Given the description of an element on the screen output the (x, y) to click on. 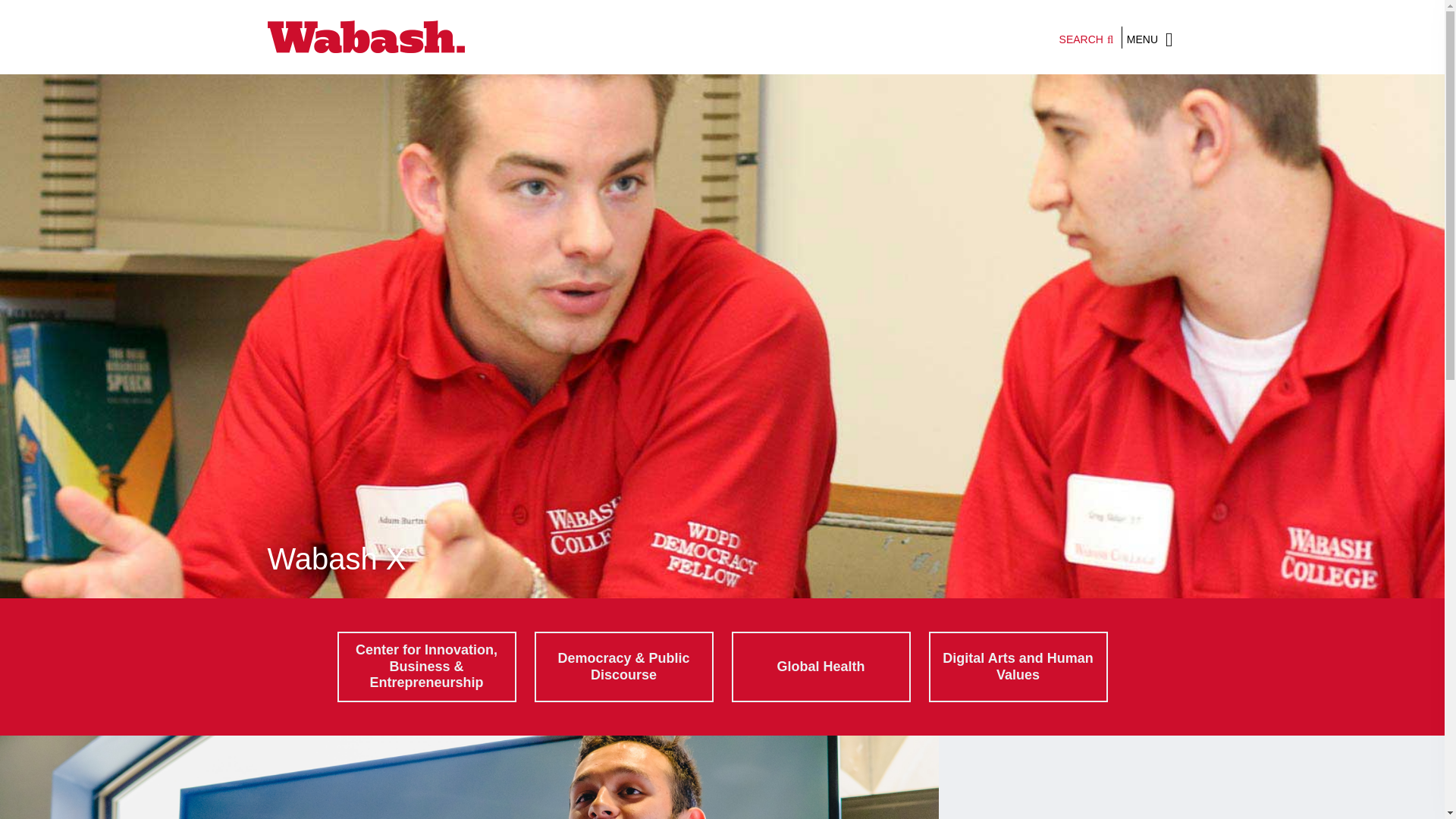
SEARCH (1086, 38)
MENU (1149, 36)
Digital Arts and Human Values (1017, 666)
Global Health (820, 666)
